Given the description of an element on the screen output the (x, y) to click on. 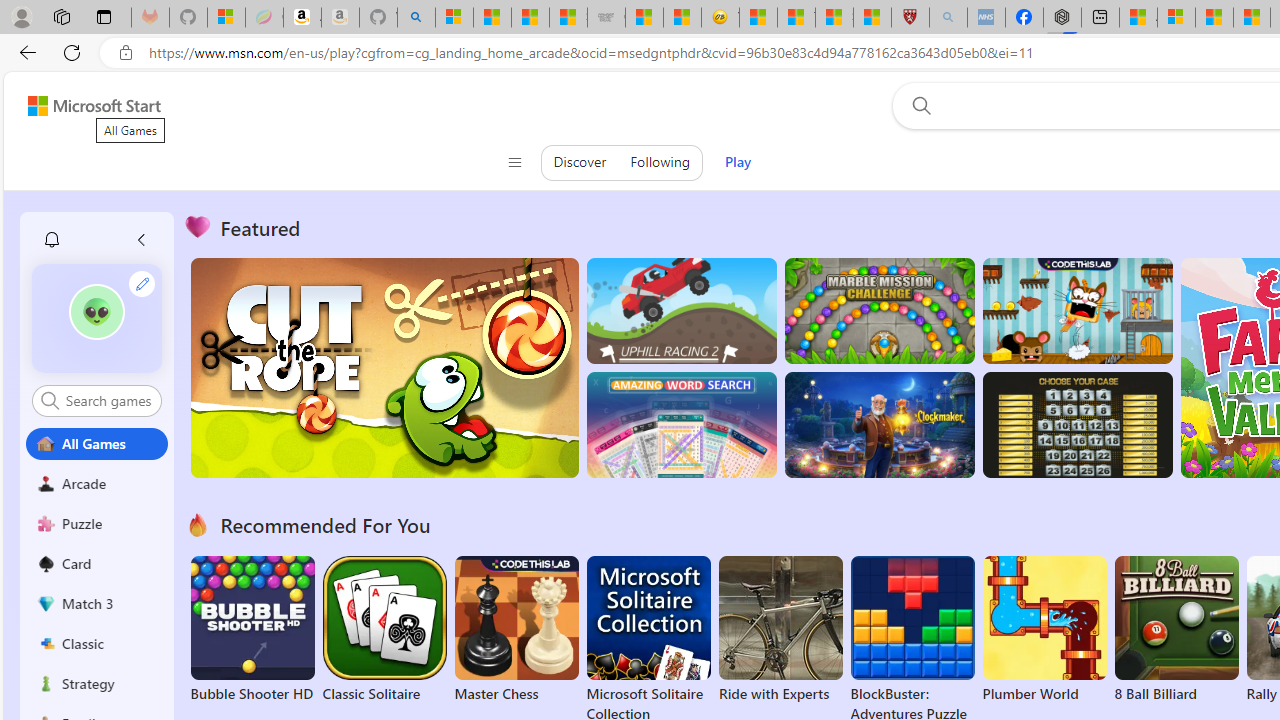
8 Ball Billiard (1176, 629)
Amazing Word Search (681, 425)
""'s avatar (97, 318)
Clockmaker (879, 425)
Class: search-icon (50, 400)
